Given the description of an element on the screen output the (x, y) to click on. 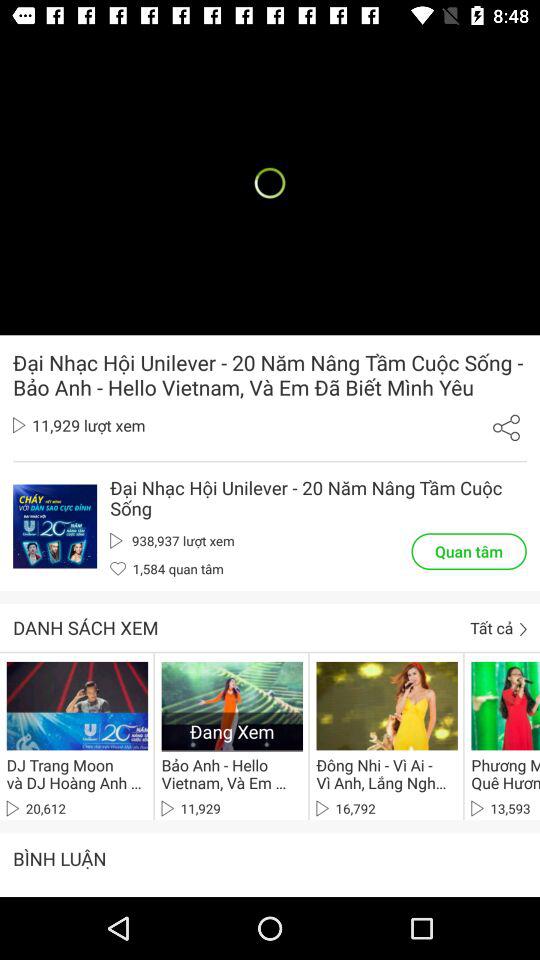
scroll until 1 584 quan icon (166, 568)
